Given the description of an element on the screen output the (x, y) to click on. 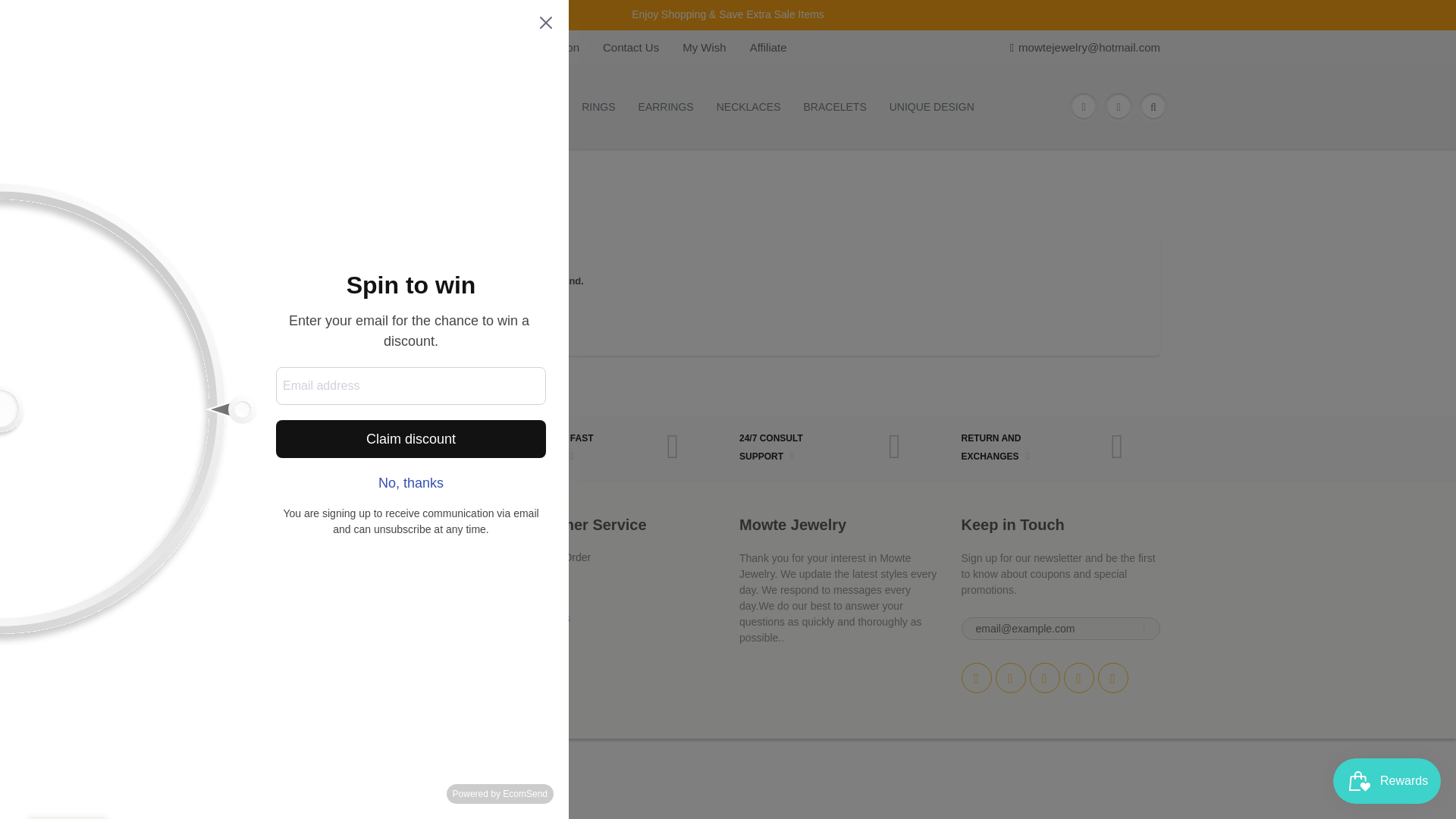
Affiliate (768, 47)
Contact Us (630, 47)
Tumblr (1112, 677)
PayPal (549, 782)
My Wish (704, 47)
BRACELETS (834, 107)
UNIQUE DESIGN (931, 107)
Smile.io Rewards Program Launcher (1387, 780)
Home (309, 166)
About Us (317, 587)
TRACK YOUR ORDER (371, 448)
Facebook (1009, 677)
Terms and policies (339, 603)
Log In (309, 572)
Pinterest (1044, 677)
